Given the description of an element on the screen output the (x, y) to click on. 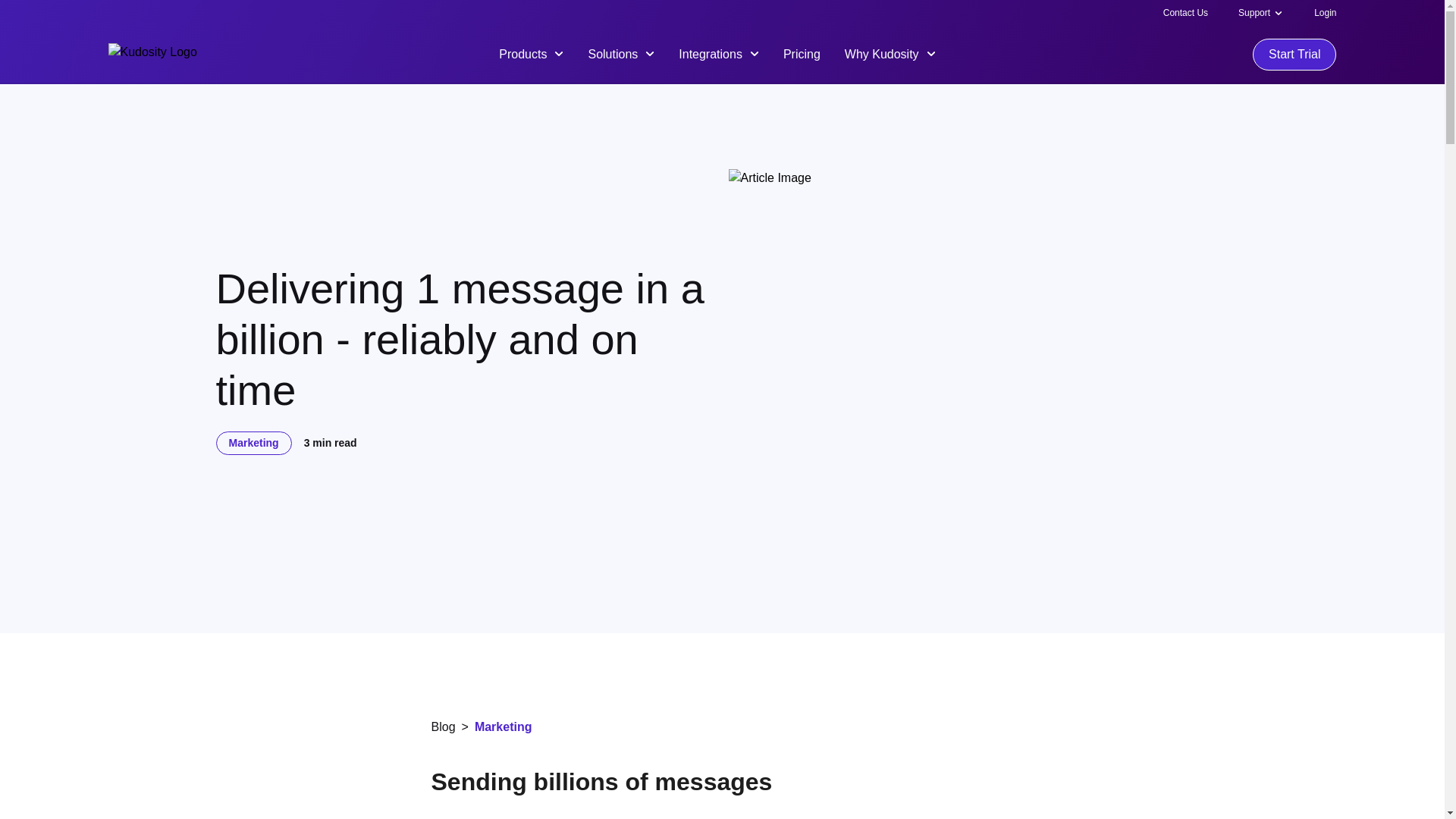
Kudosity (151, 54)
Contact Us (1185, 12)
Login (1325, 12)
Products (531, 54)
Solutions (620, 54)
Support (1254, 12)
